Given the description of an element on the screen output the (x, y) to click on. 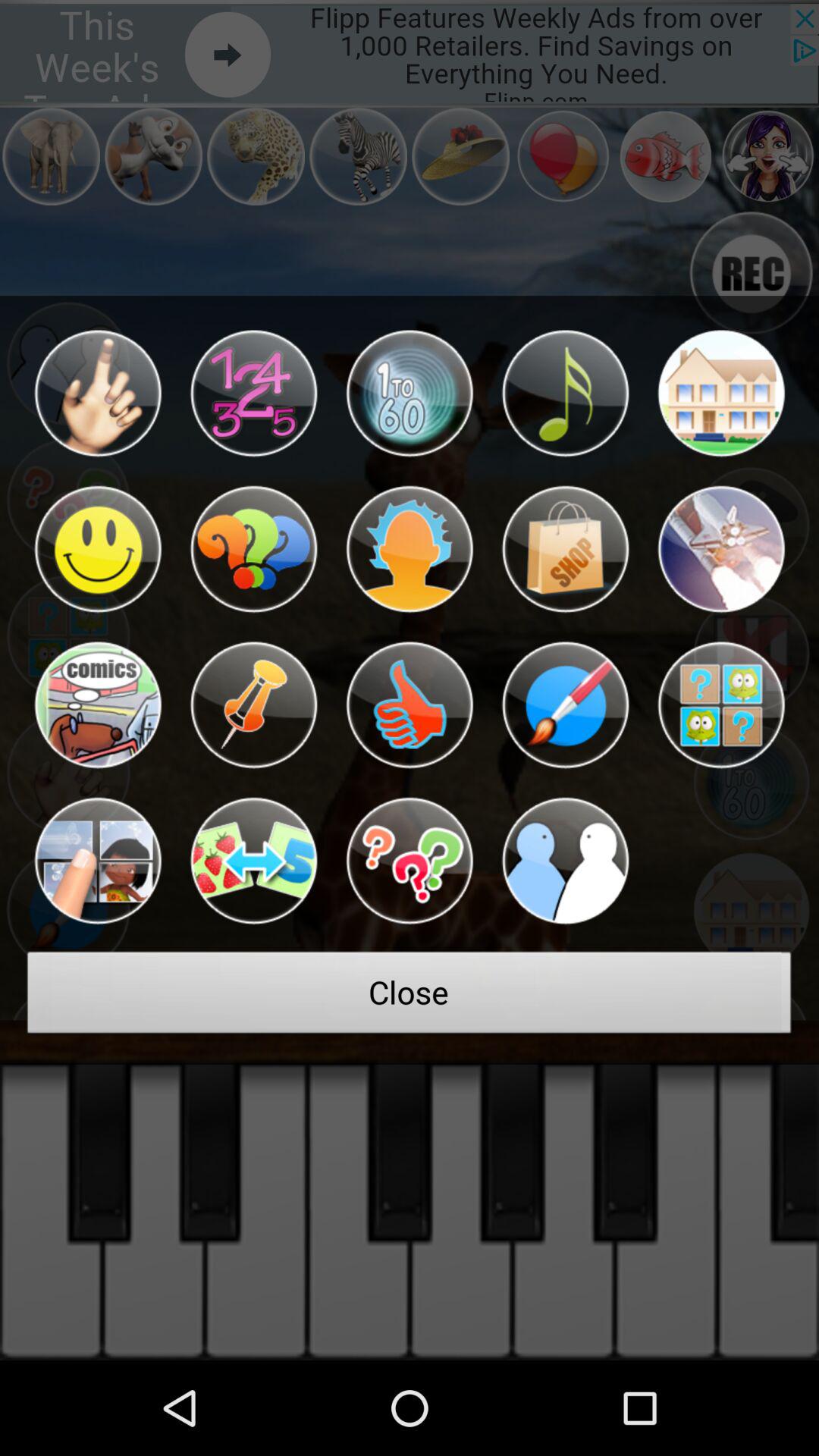
select game (97, 705)
